Given the description of an element on the screen output the (x, y) to click on. 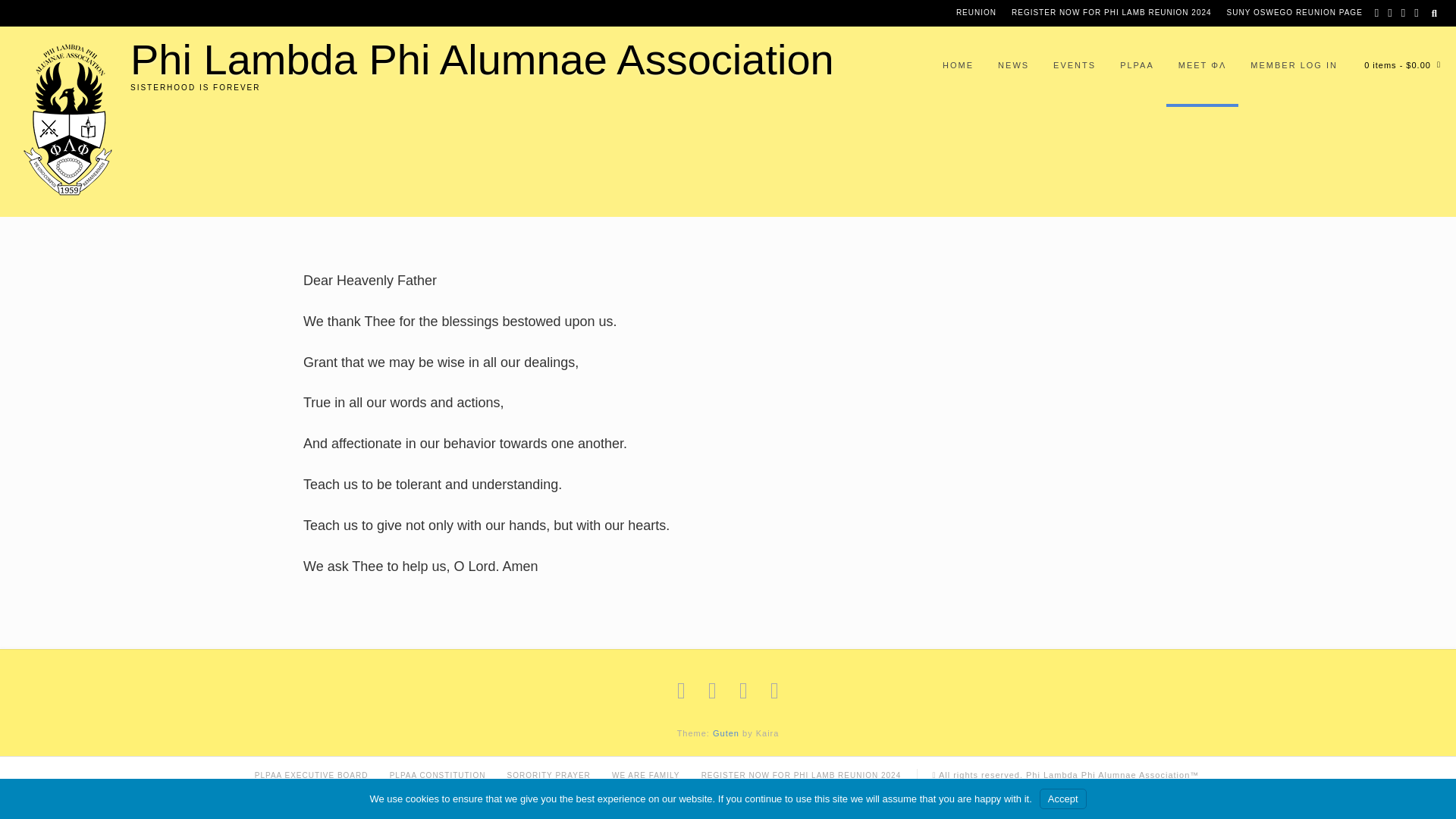
Phi Lambda Phi Alumnae Association (482, 59)
SUNY OSWEGO REUNION PAGE (1295, 13)
View your shopping cart (1396, 66)
Phi Lambda Phi Alumnae Association (482, 59)
REUNION (976, 13)
MEMBER LOG IN (1294, 66)
REGISTER NOW FOR PHI LAMB REUNION 2024 (1112, 13)
